Given the description of an element on the screen output the (x, y) to click on. 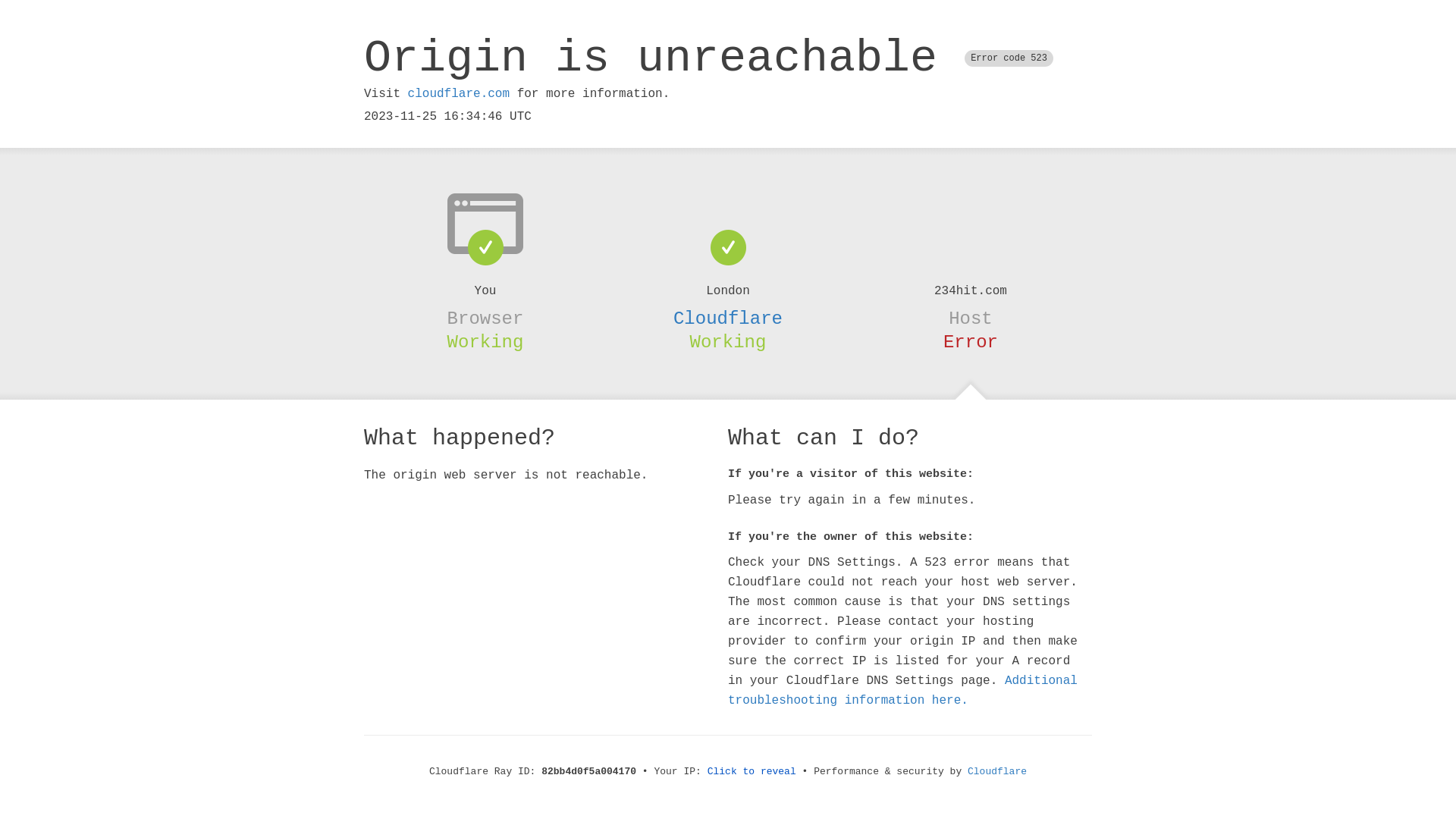
Cloudflare Element type: text (996, 771)
Click to reveal Element type: text (751, 771)
Additional troubleshooting information here. Element type: text (902, 690)
cloudflare.com Element type: text (458, 93)
Cloudflare Element type: text (727, 318)
